Given the description of an element on the screen output the (x, y) to click on. 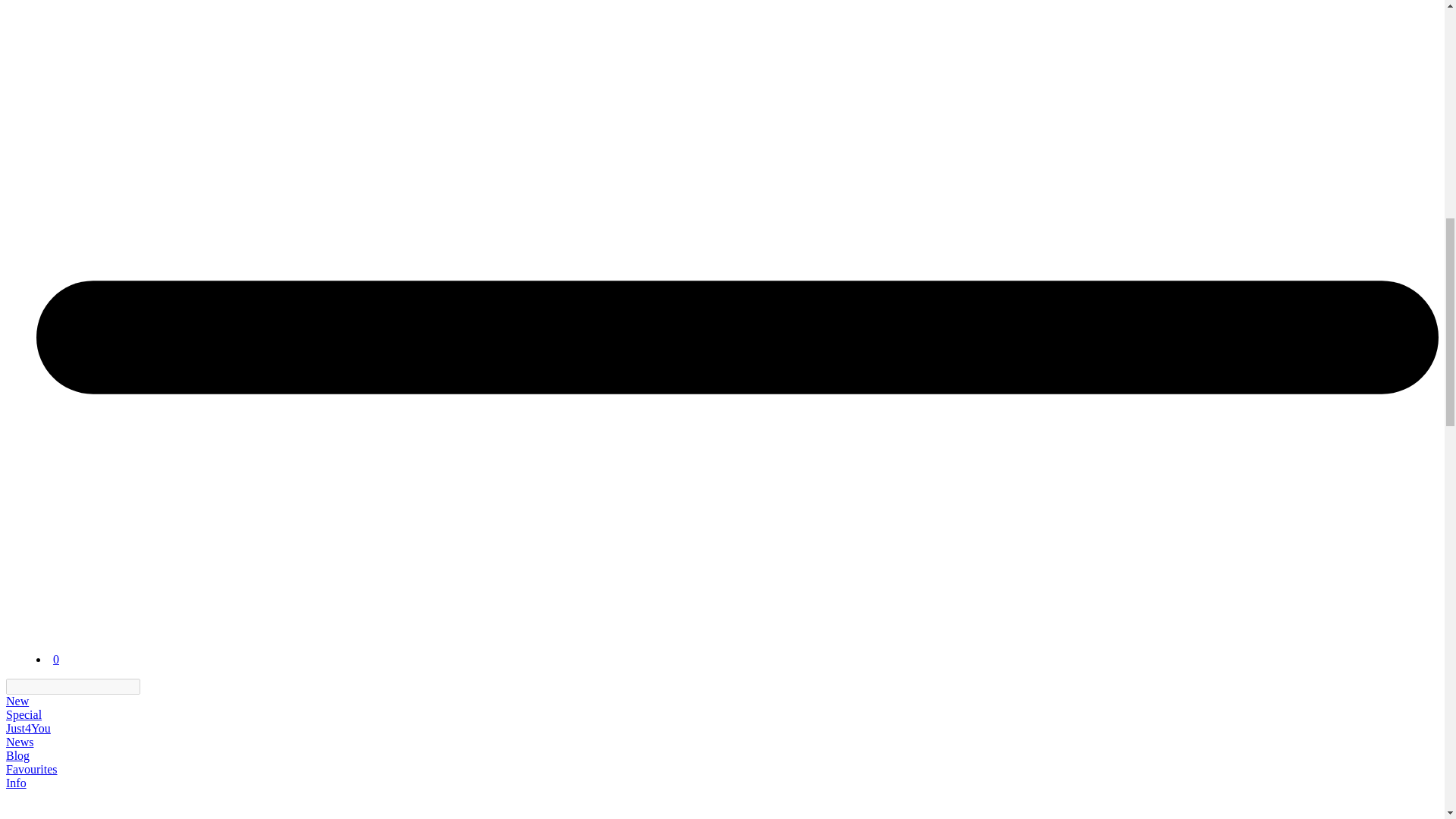
shop4shops logo (116, 645)
Find (148, 686)
shop4shops logo (86, 804)
shop4shops logo (116, 630)
